Given the description of an element on the screen output the (x, y) to click on. 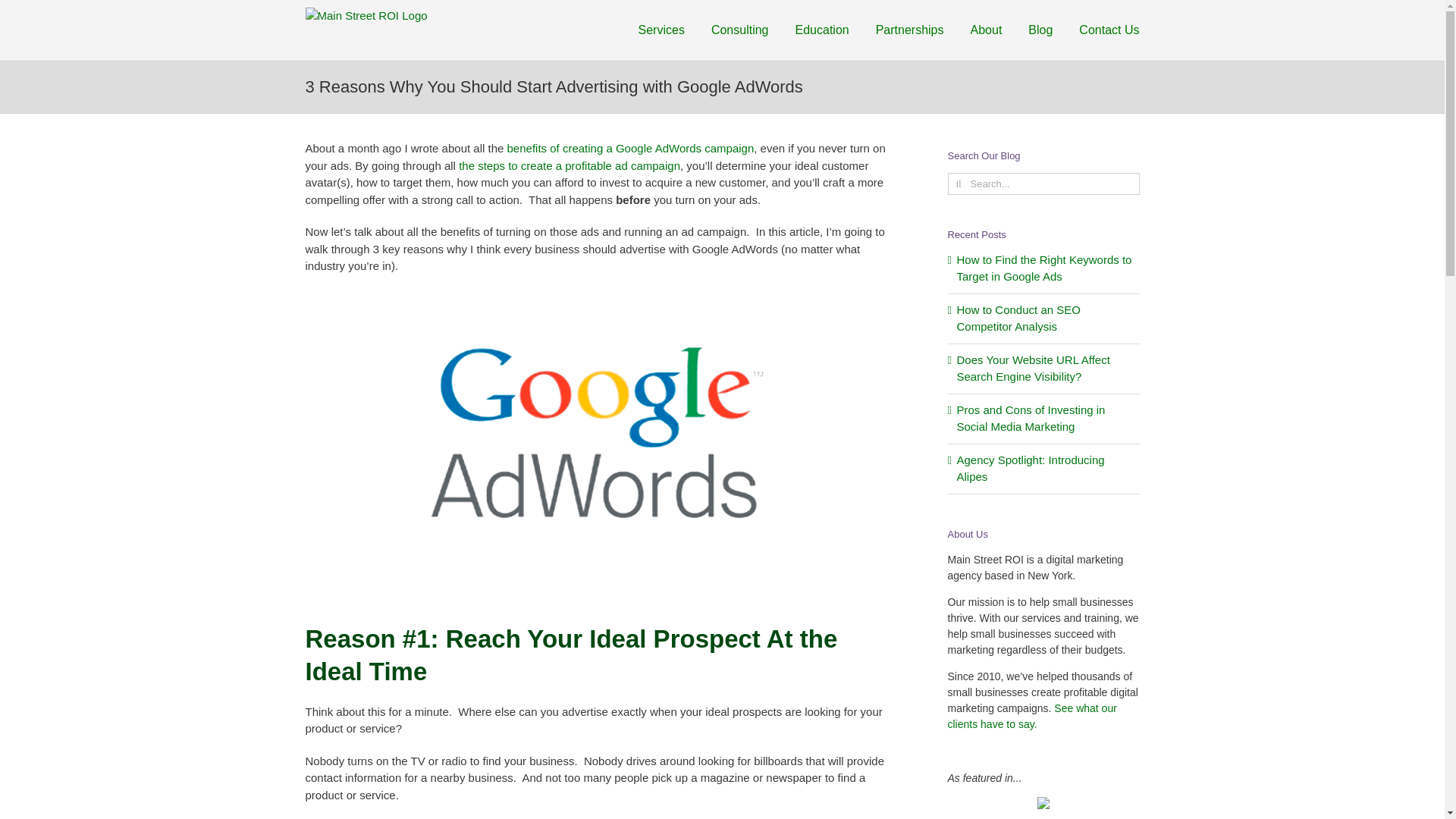
Partnerships (909, 30)
Consulting (739, 30)
Contact Us (1108, 30)
Contact Us (1108, 30)
